Given the description of an element on the screen output the (x, y) to click on. 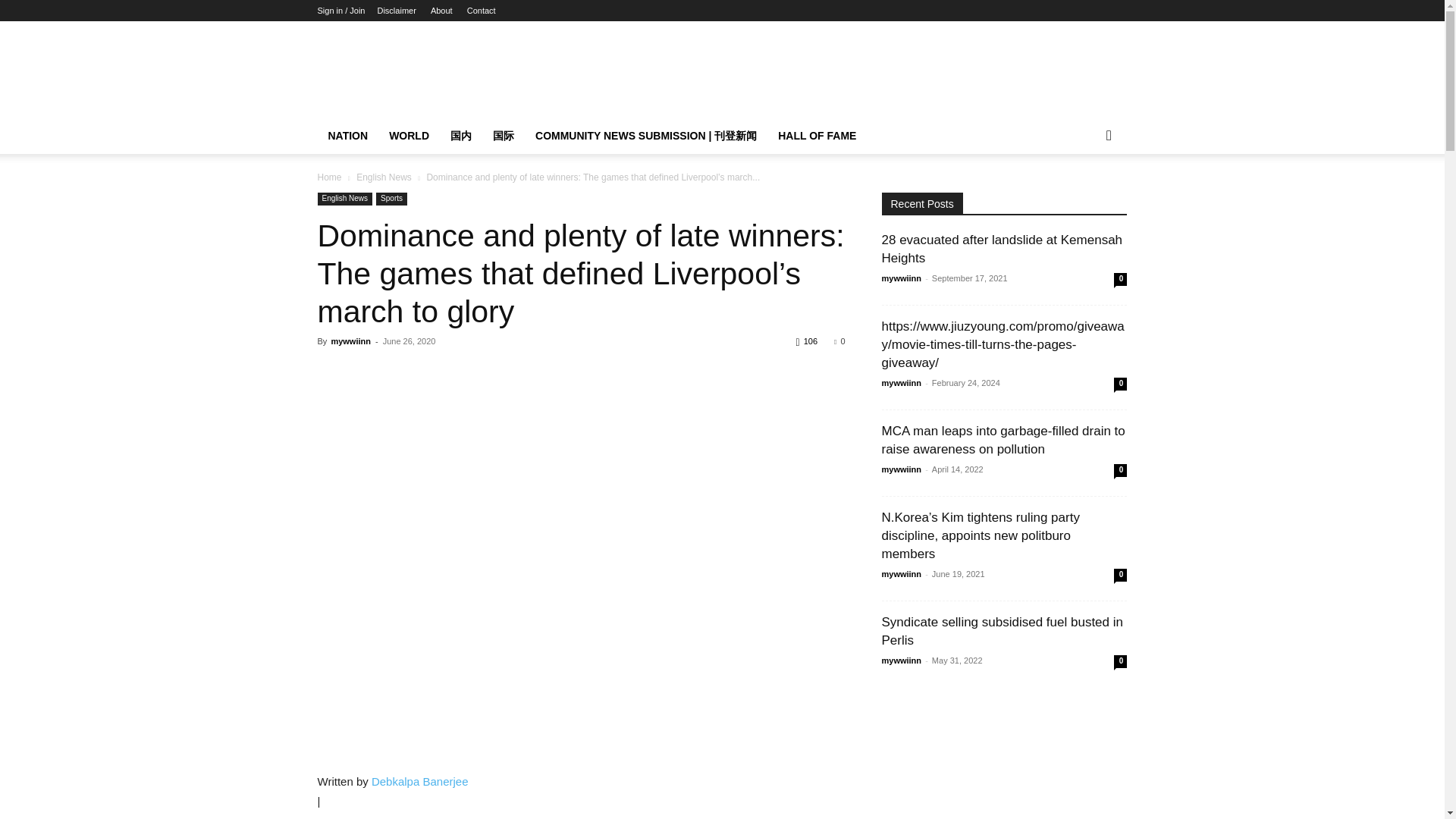
WORLD (408, 135)
Contact (481, 10)
Disclaimer (395, 10)
About (441, 10)
NATION (347, 135)
